Given the description of an element on the screen output the (x, y) to click on. 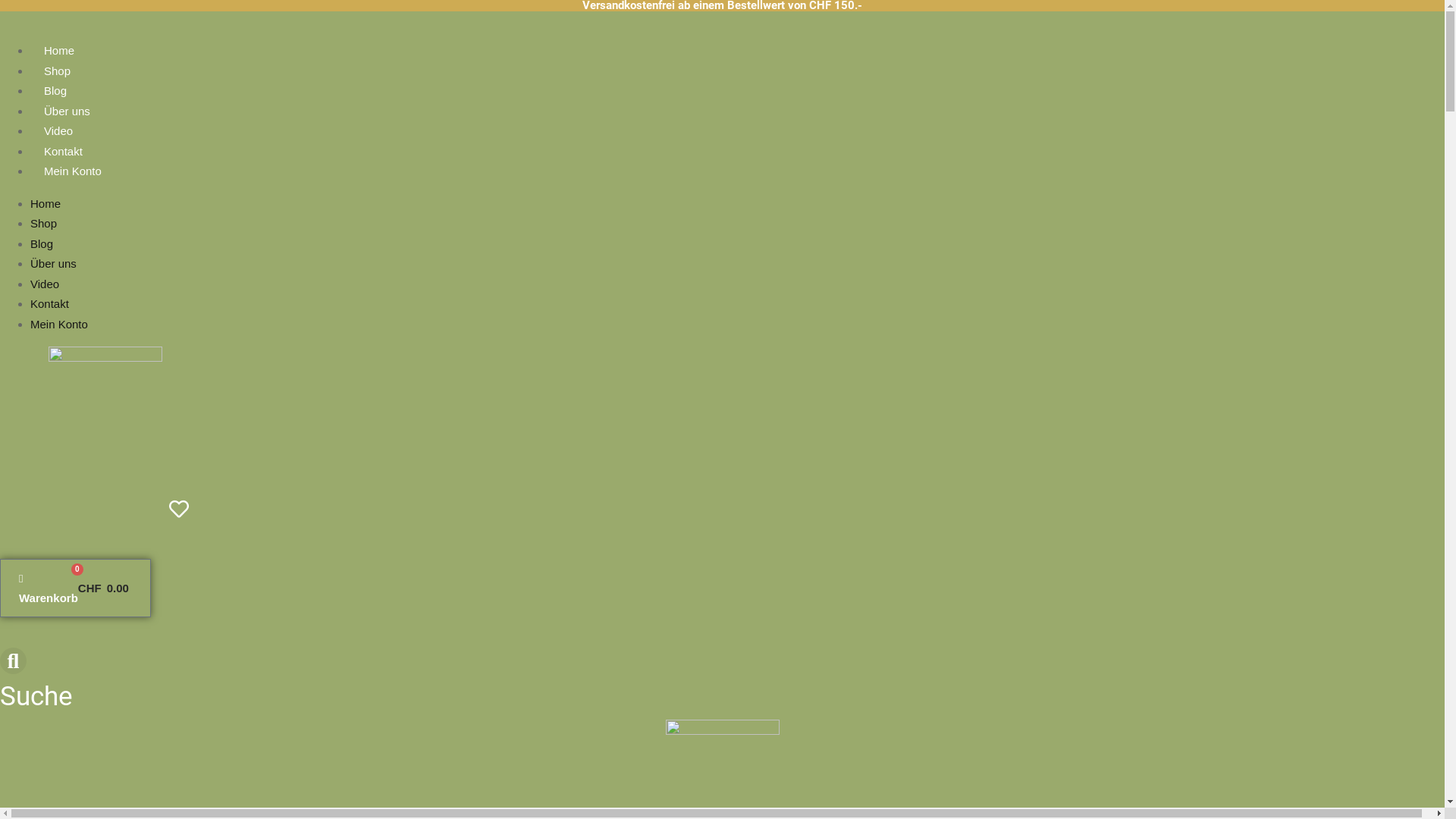
Kontakt Element type: text (49, 303)
Kontakt Element type: text (63, 150)
Video Element type: text (58, 130)
Video Element type: text (44, 283)
Mein Konto Element type: text (72, 170)
Shop Element type: text (43, 222)
Home Element type: text (58, 49)
Shop Element type: text (57, 69)
Home Element type: text (45, 203)
Blog Element type: text (41, 242)
Blog Element type: text (55, 90)
Mein Konto Element type: text (58, 322)
CHF0.00
0
Warenkorb Element type: text (75, 587)
